Given the description of an element on the screen output the (x, y) to click on. 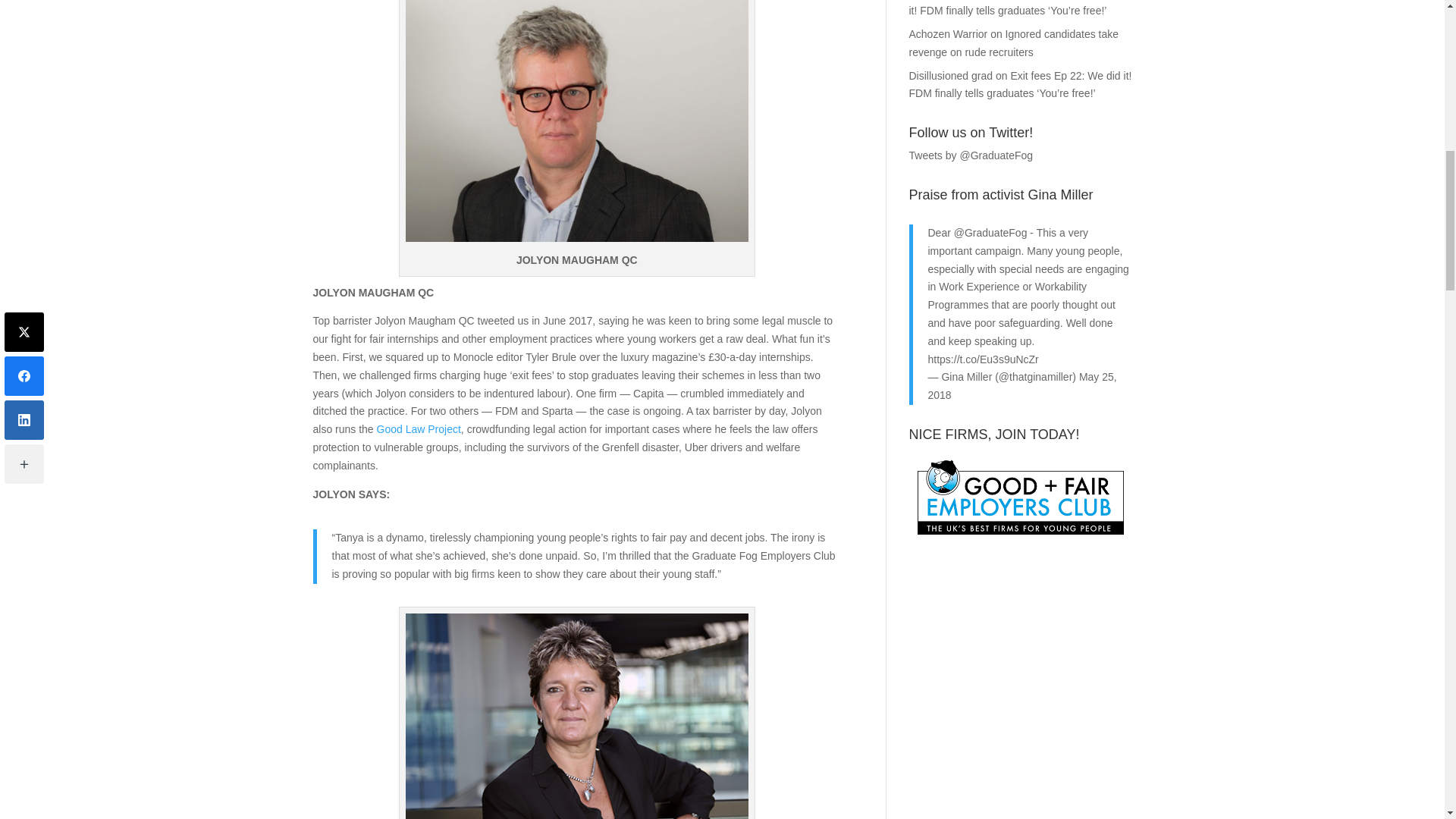
Ignored candidates take revenge on rude recruiters (1013, 42)
May 25, 2018 (1022, 386)
Good Law Project (419, 428)
